Given the description of an element on the screen output the (x, y) to click on. 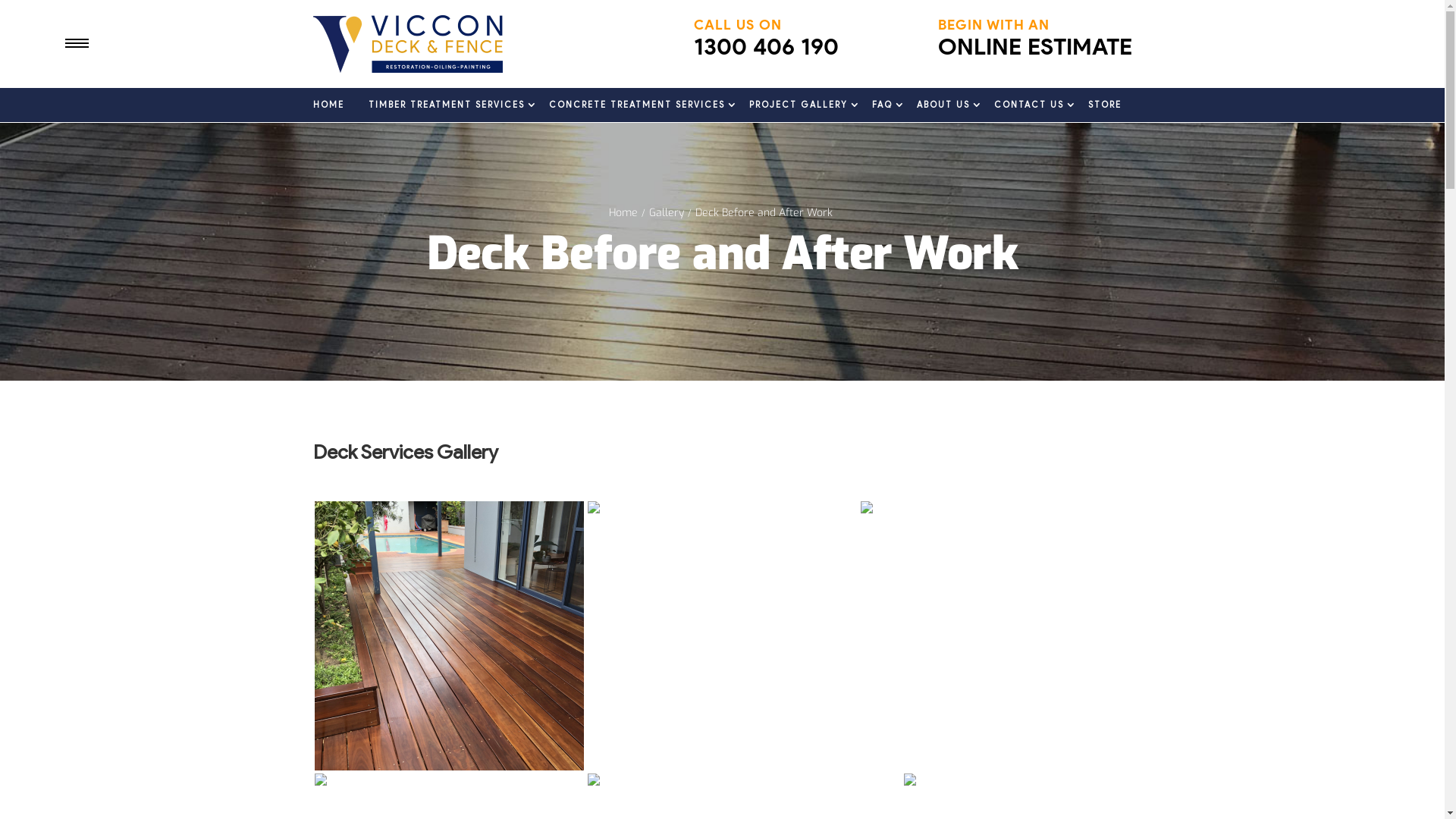
PROJECT GALLERY Element type: text (798, 104)
Search Element type: text (37, 11)
Merbau Custom Deck With Water Base Finish Element type: hover (721, 635)
STORE Element type: text (1103, 104)
Merbau Custom Deck With Water Base Finish Element type: hover (994, 635)
FAQ Element type: text (882, 104)
Home Element type: text (622, 212)
Spotted Gum Deck With Water Base Finish Element type: hover (448, 635)
ONLINE ESTIMATE Element type: text (1034, 46)
Gallery Element type: text (666, 212)
TIMBER TREATMENT SERVICES Element type: text (446, 104)
ABOUT US Element type: text (942, 104)
HOME Element type: text (327, 104)
CONCRETE TREATMENT SERVICES Element type: text (636, 104)
CONTACT US Element type: text (1028, 104)
1300 406 190 Element type: text (765, 46)
